Given the description of an element on the screen output the (x, y) to click on. 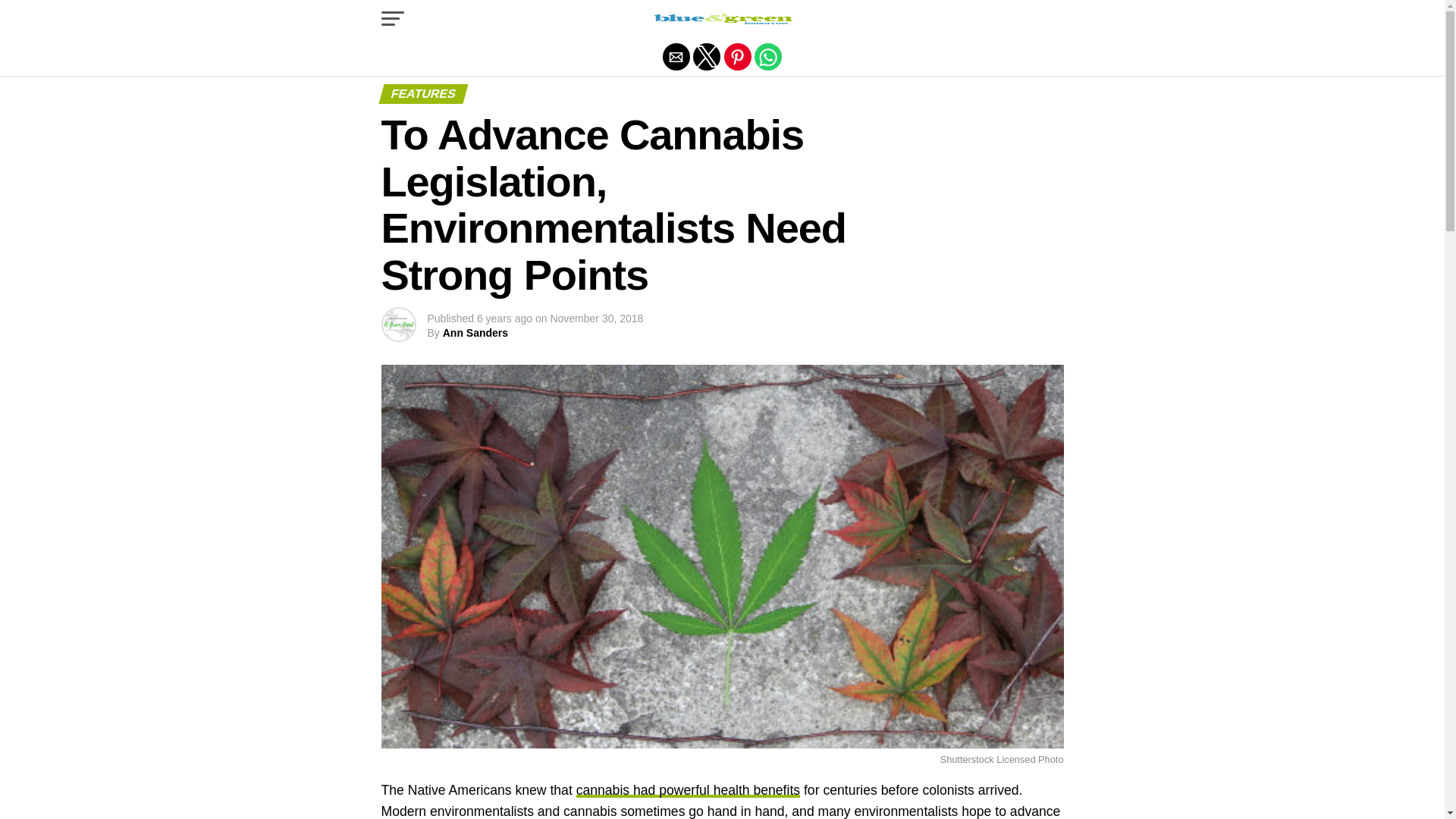
Ann Sanders (475, 332)
cannabis had powerful health benefits (687, 789)
Posts by Ann Sanders (475, 332)
